Given the description of an element on the screen output the (x, y) to click on. 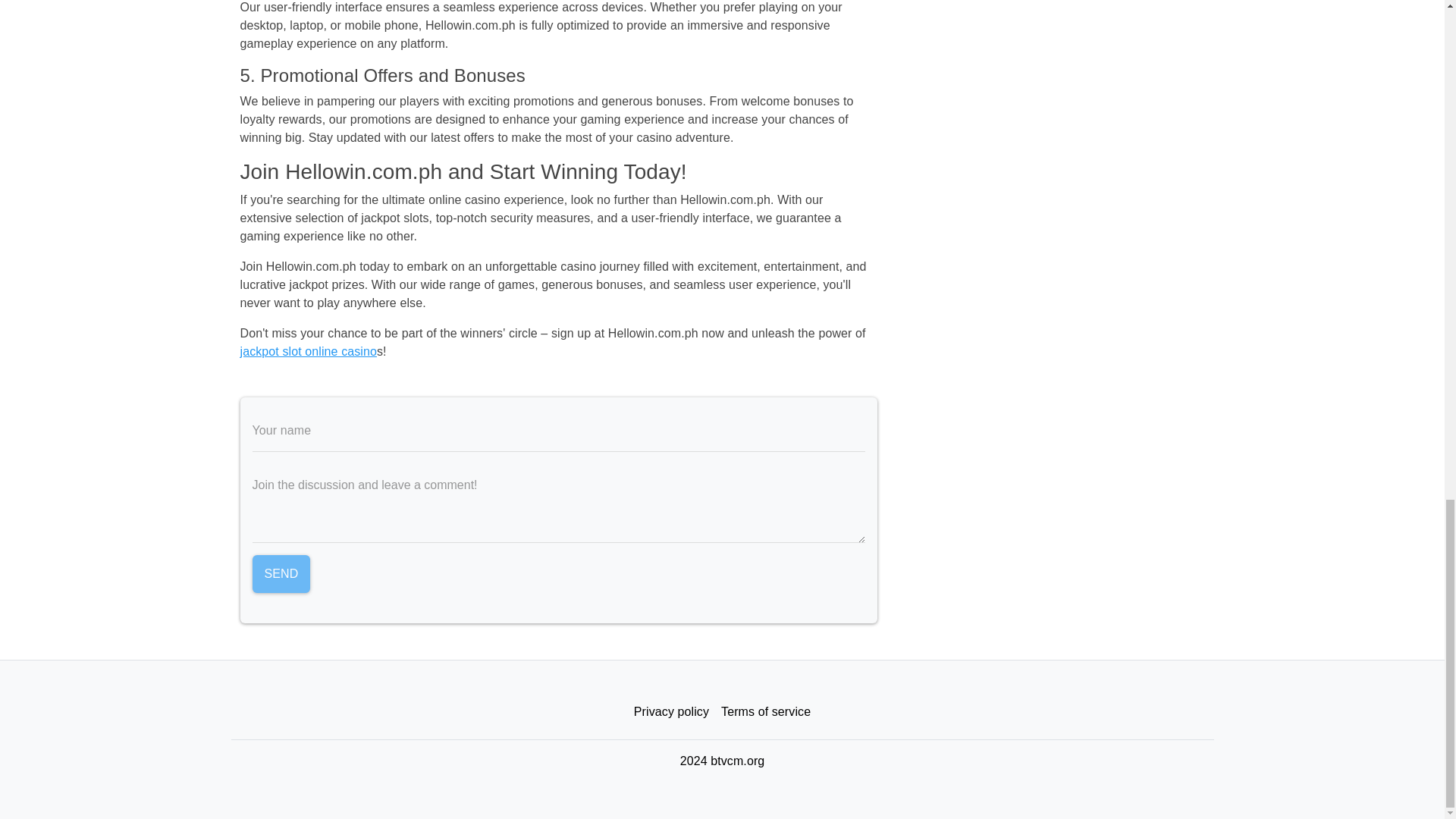
Send (280, 573)
jackpot slot online casino (307, 350)
Send (280, 573)
Terms of service (765, 711)
Privacy policy (670, 711)
